Given the description of an element on the screen output the (x, y) to click on. 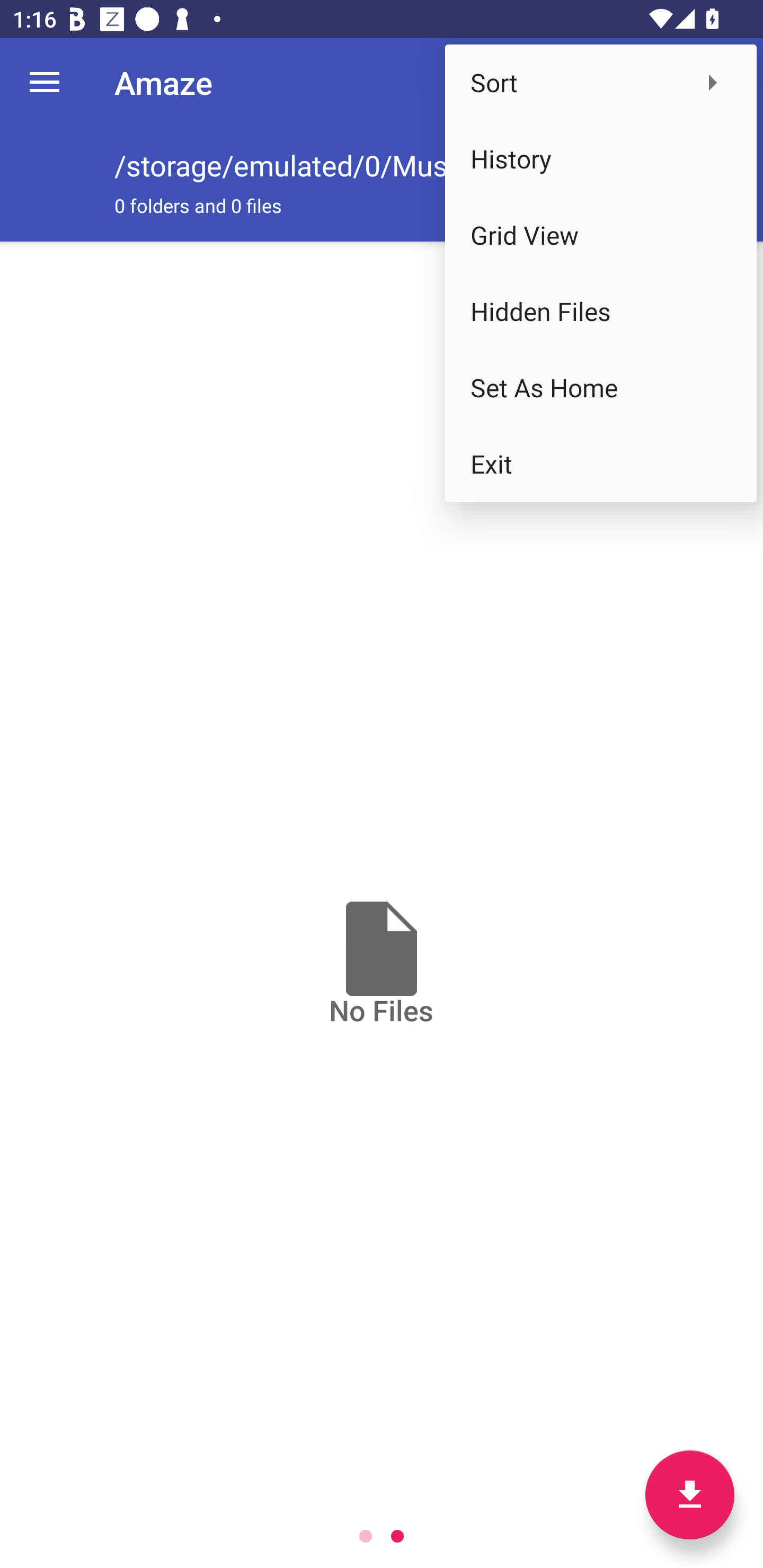
Sort (600, 81)
History (600, 158)
Grid View (600, 234)
Hidden Files (600, 310)
Set As Home (600, 387)
Exit (600, 463)
